Given the description of an element on the screen output the (x, y) to click on. 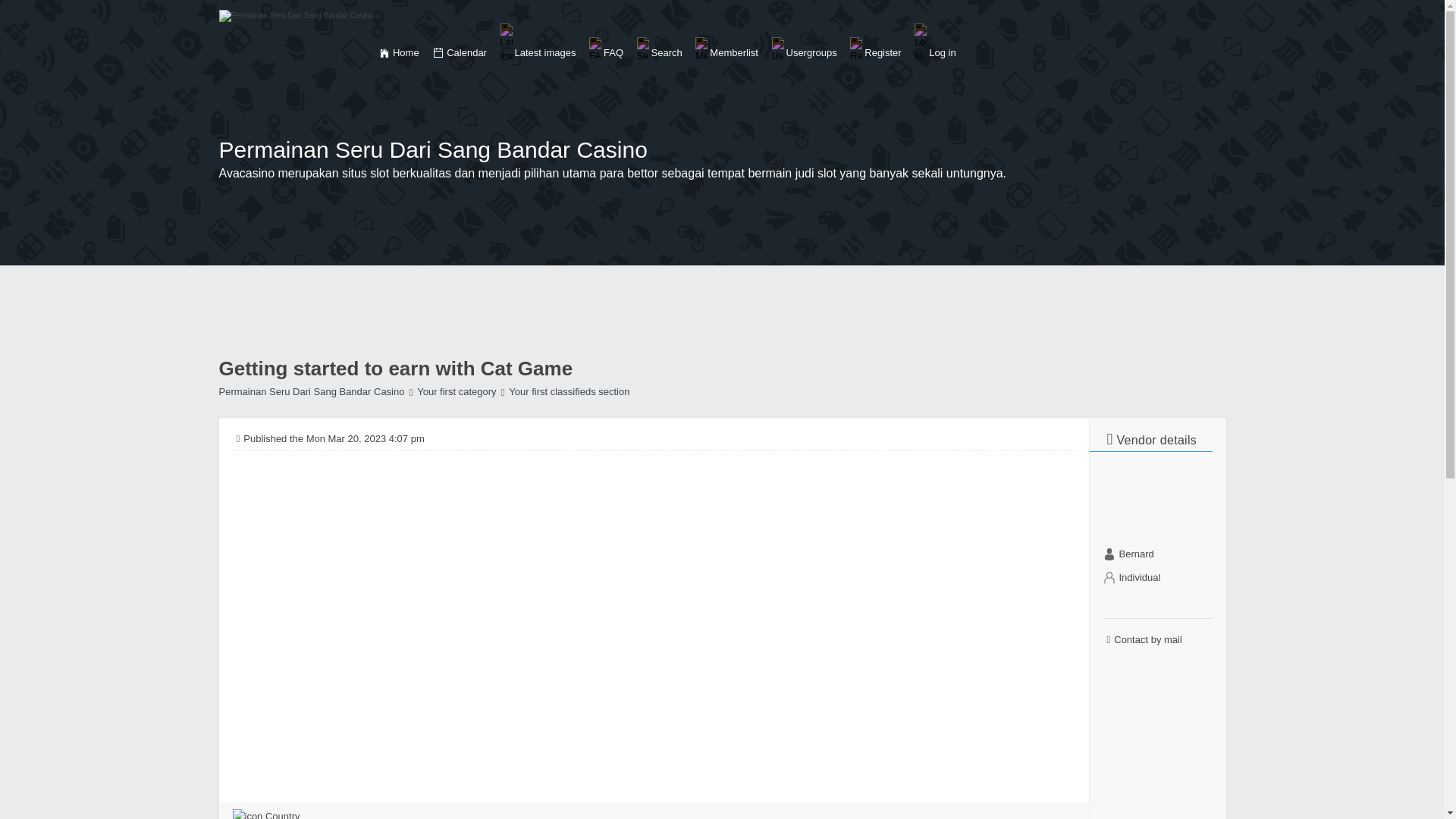
Contact by mail (1156, 639)
Usergroups (804, 49)
Home (398, 52)
Log in (934, 42)
Latest images (538, 42)
Your first category (452, 391)
FAQ (606, 49)
Search (659, 49)
Your first classifieds section (565, 391)
Bernard (1136, 553)
Memberlist (726, 49)
Bernard (1136, 553)
Calendar (460, 52)
Home (384, 52)
Register (875, 49)
